Given the description of an element on the screen output the (x, y) to click on. 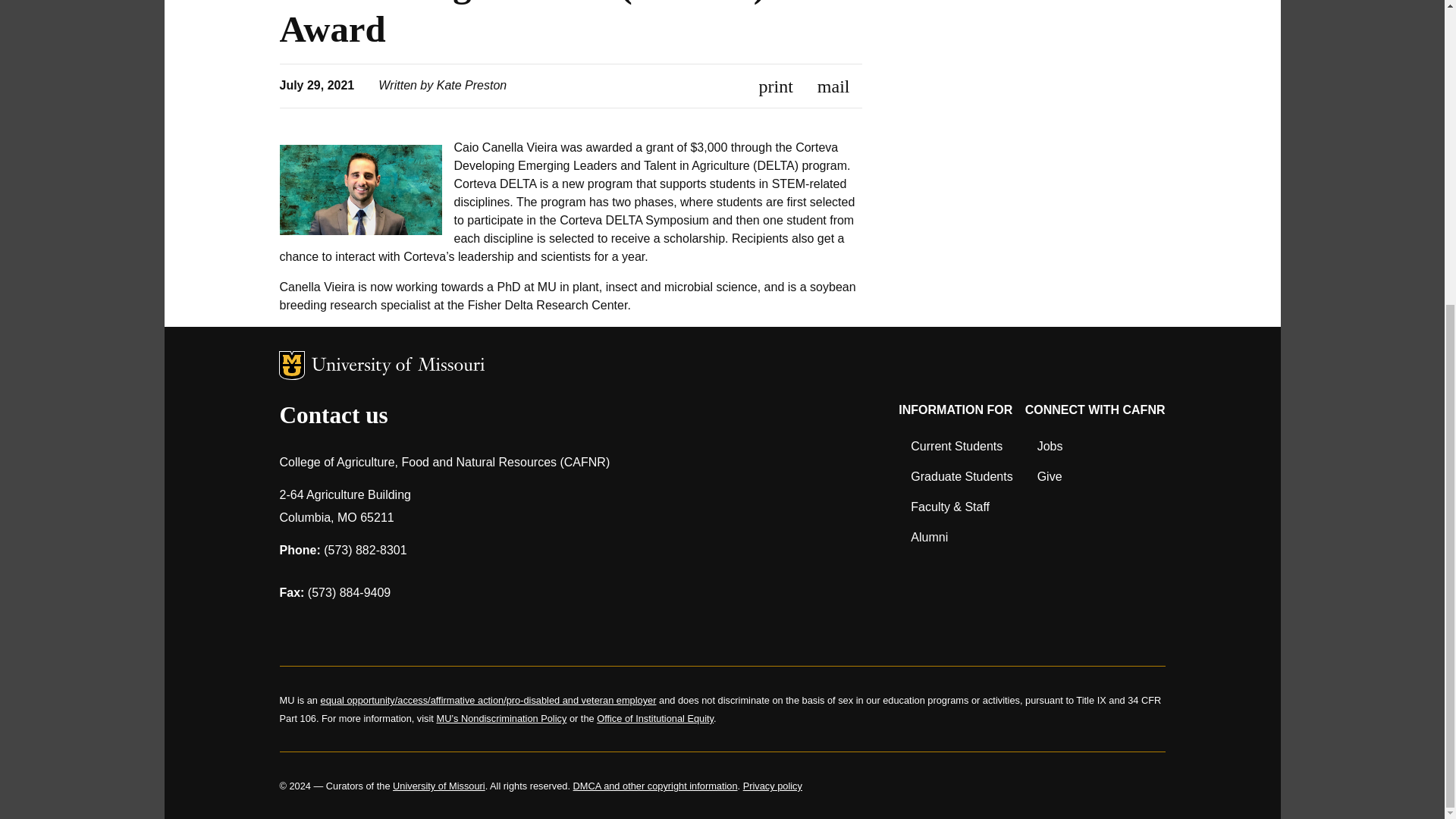
Youtube (450, 627)
Facebook (292, 627)
Email (833, 85)
Instagram (332, 627)
Print (775, 85)
Linkedin (411, 627)
X (371, 627)
